Given the description of an element on the screen output the (x, y) to click on. 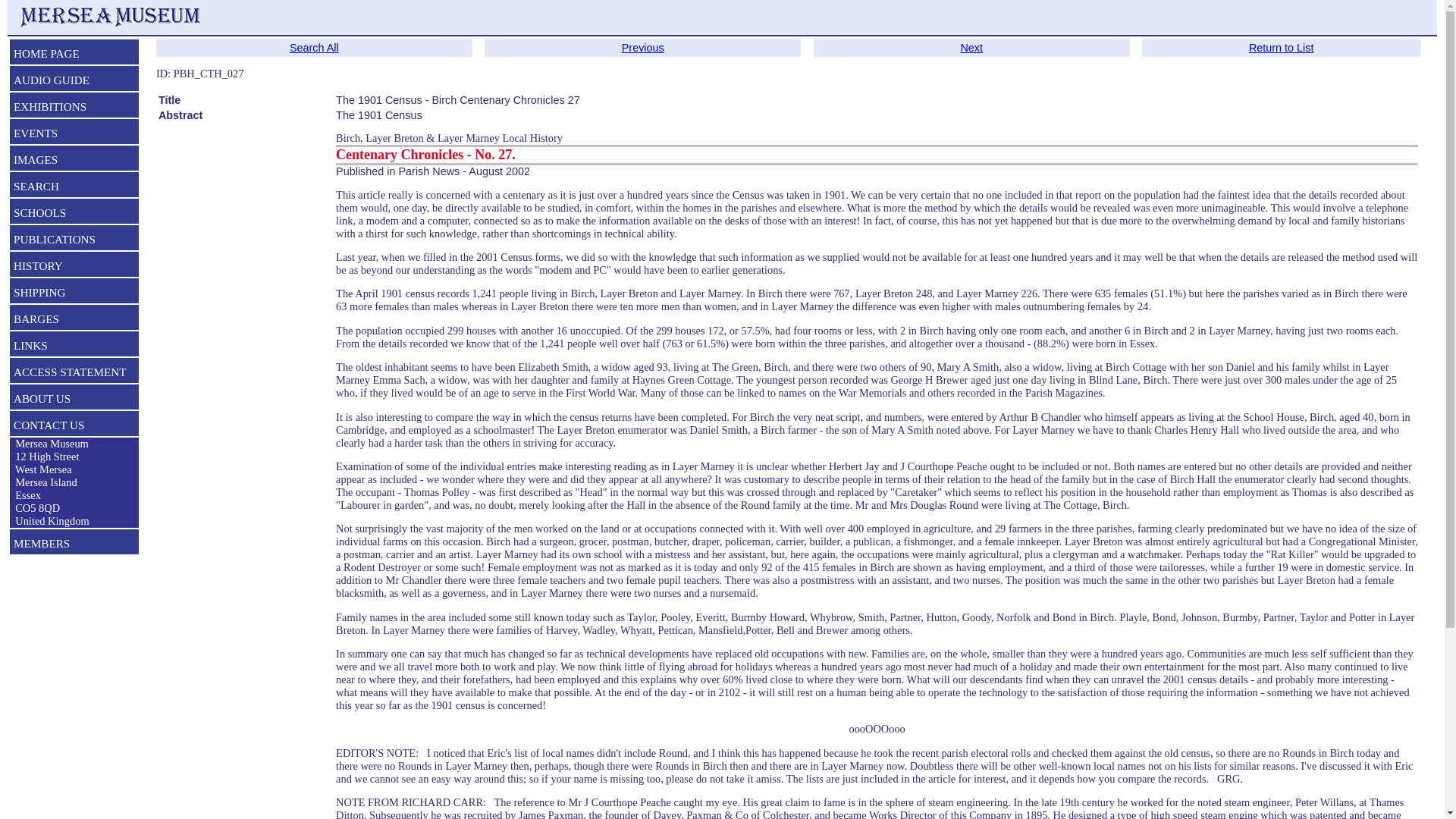
SEARCH (74, 187)
EXHIBITIONS (74, 108)
IMAGES (74, 160)
SCHOOLS (74, 214)
HOME PAGE (74, 55)
SHIPPING (74, 293)
PUBLICATIONS (74, 241)
EVENTS (74, 134)
AUDIO GUIDE (74, 81)
HISTORY (74, 267)
